Given the description of an element on the screen output the (x, y) to click on. 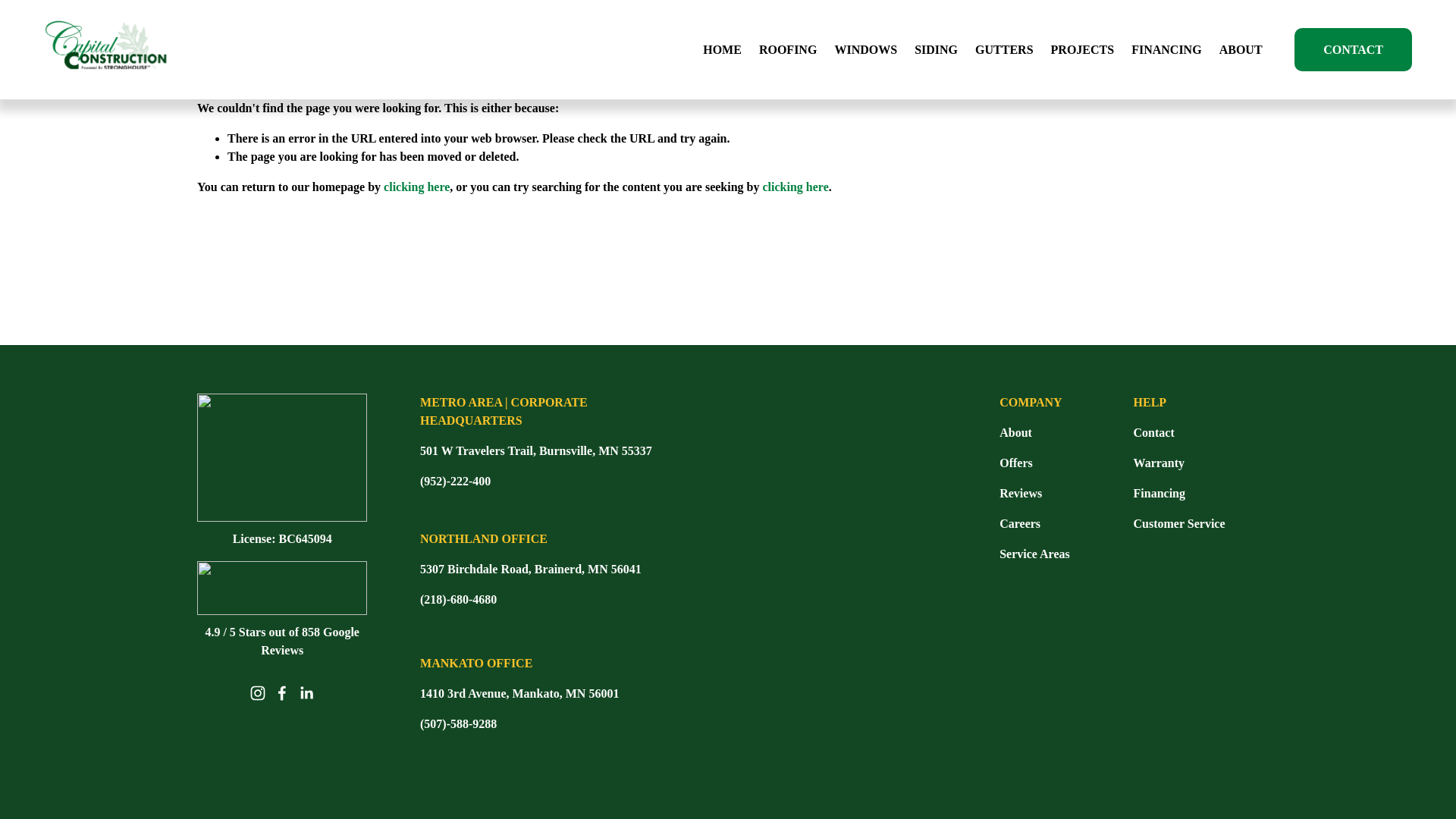
GUTTERS (1003, 49)
CONTACT (1353, 48)
clicking here (794, 186)
SIDING (936, 49)
ROOFING (787, 49)
FINANCING (1166, 49)
About (1015, 433)
ABOUT (1241, 49)
HOME (722, 49)
PROJECTS (1083, 49)
